Given the description of an element on the screen output the (x, y) to click on. 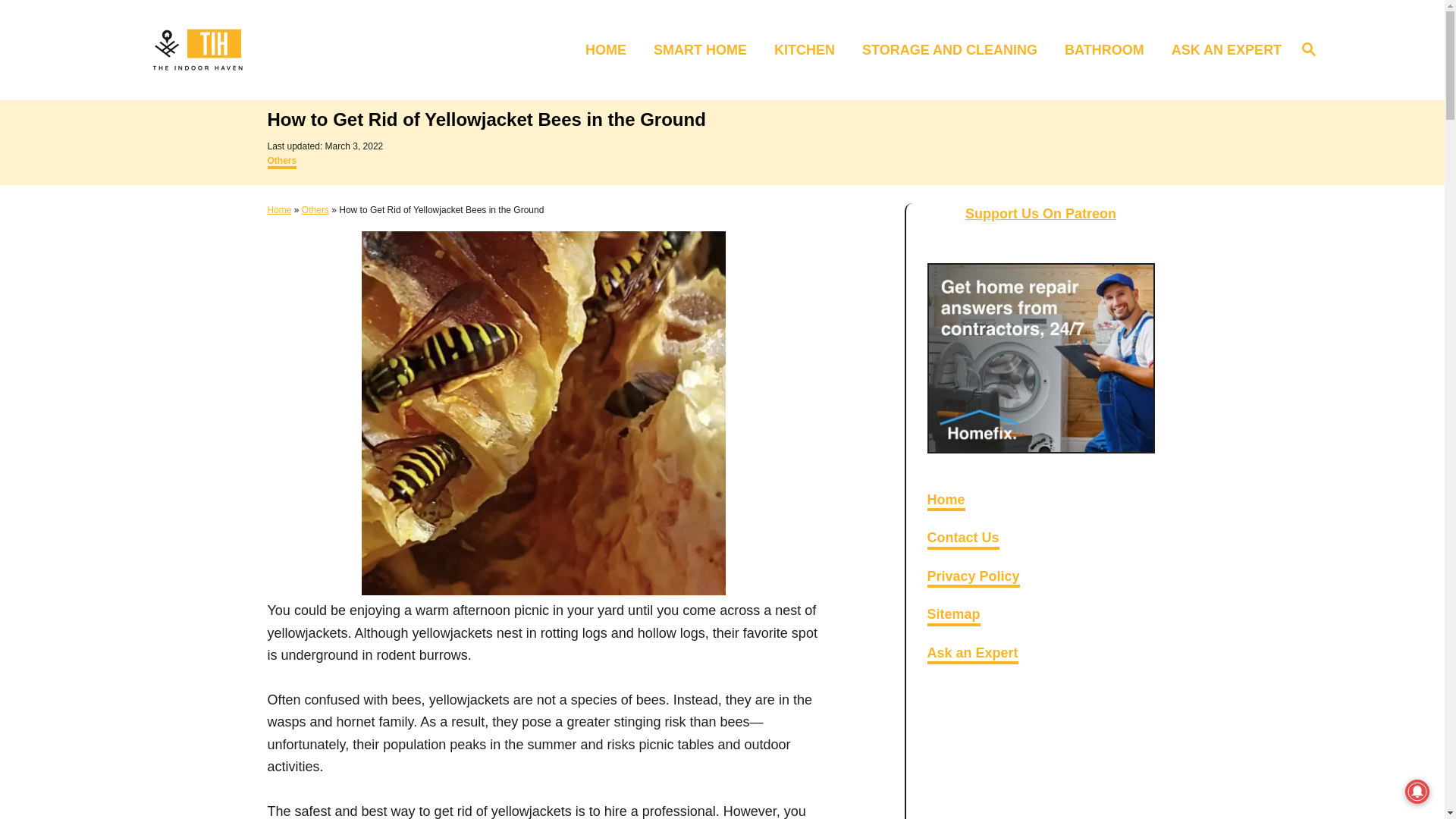
BATHROOM (1108, 49)
Privacy Policy (972, 578)
HOME (610, 49)
ASK AN EXPERT (1221, 49)
Support Us On Patreon (1308, 49)
Others (1040, 213)
Contact Us (281, 161)
Others (962, 539)
SMART HOME (315, 209)
STORAGE AND CLEANING (705, 49)
Home (954, 49)
The Indoor Haven (278, 209)
Home (285, 50)
Ask an Expert (944, 501)
